Given the description of an element on the screen output the (x, y) to click on. 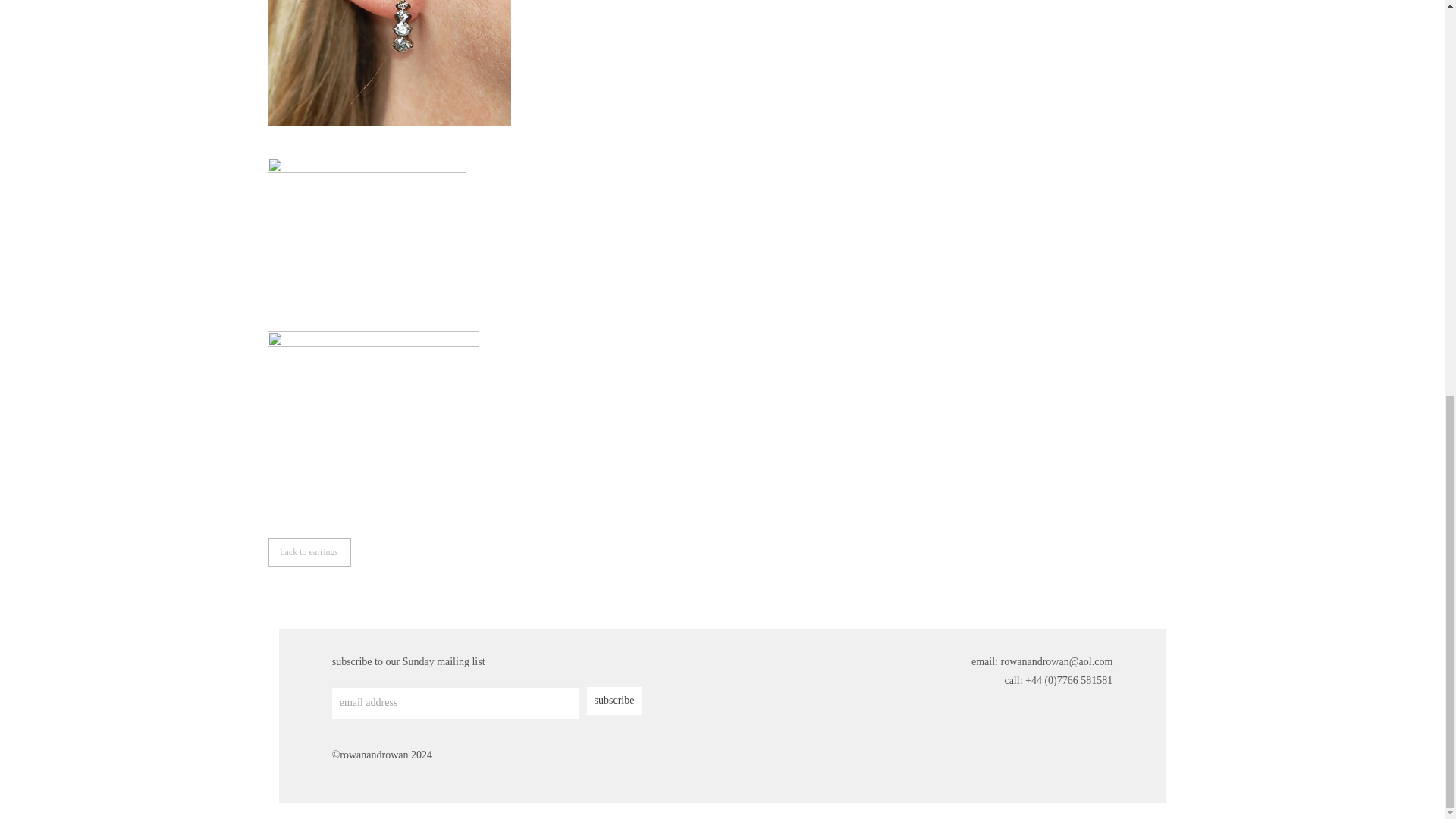
earrings (308, 552)
back to earrings (308, 552)
subscribe (614, 700)
